Given the description of an element on the screen output the (x, y) to click on. 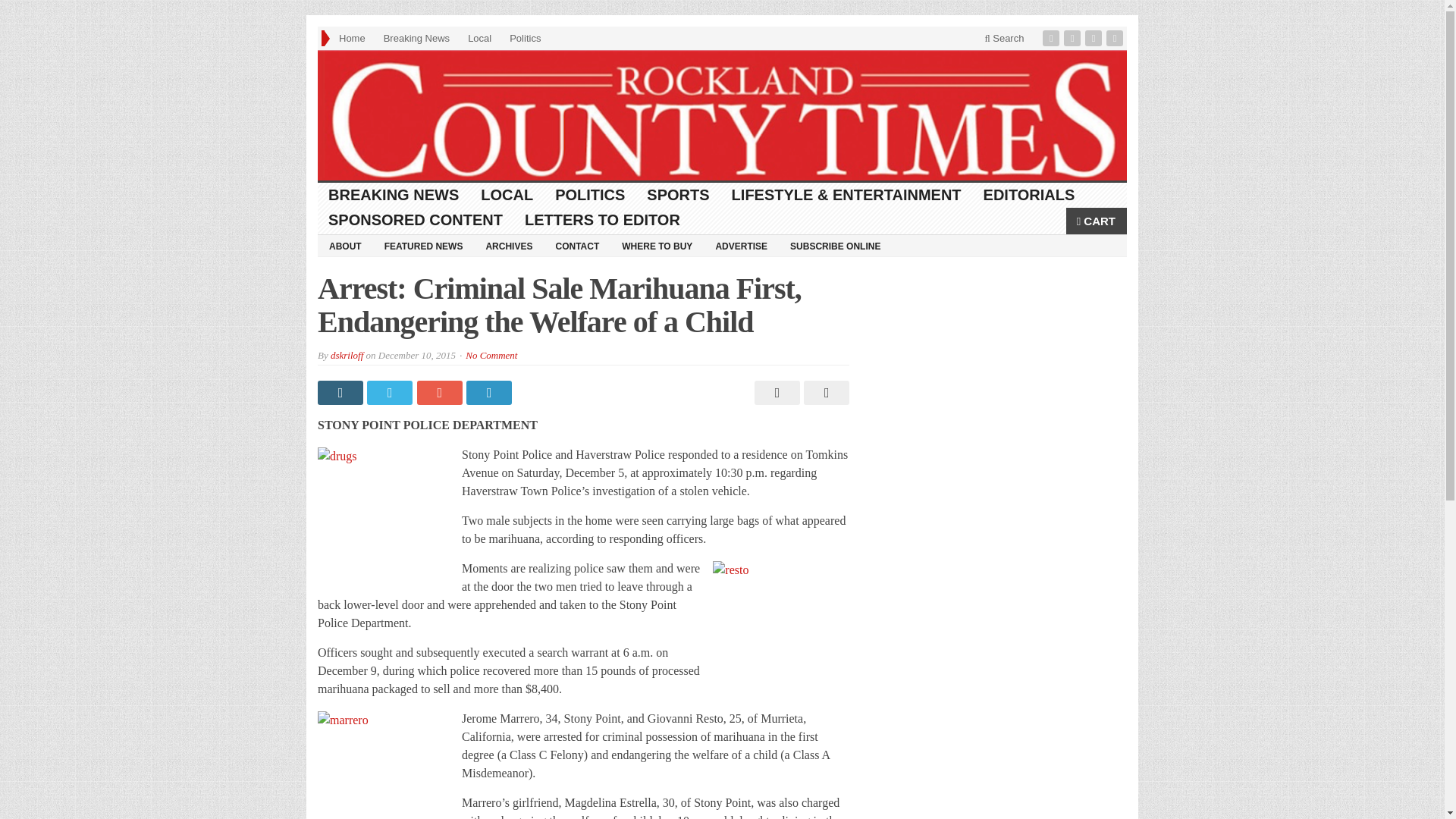
SPONSORED CONTENT (415, 220)
ADVERTISE (740, 245)
CONTACT (576, 245)
dskriloff (346, 355)
Local (479, 37)
SUBSCRIBE ONLINE (834, 245)
CART (1095, 221)
LETTERS TO EDITOR (602, 220)
EDITORIALS (1029, 195)
FEATURED NEWS (423, 245)
Politics (525, 37)
Search (1003, 37)
No Comment (490, 355)
SPORTS (678, 195)
LOCAL (507, 195)
